Given the description of an element on the screen output the (x, y) to click on. 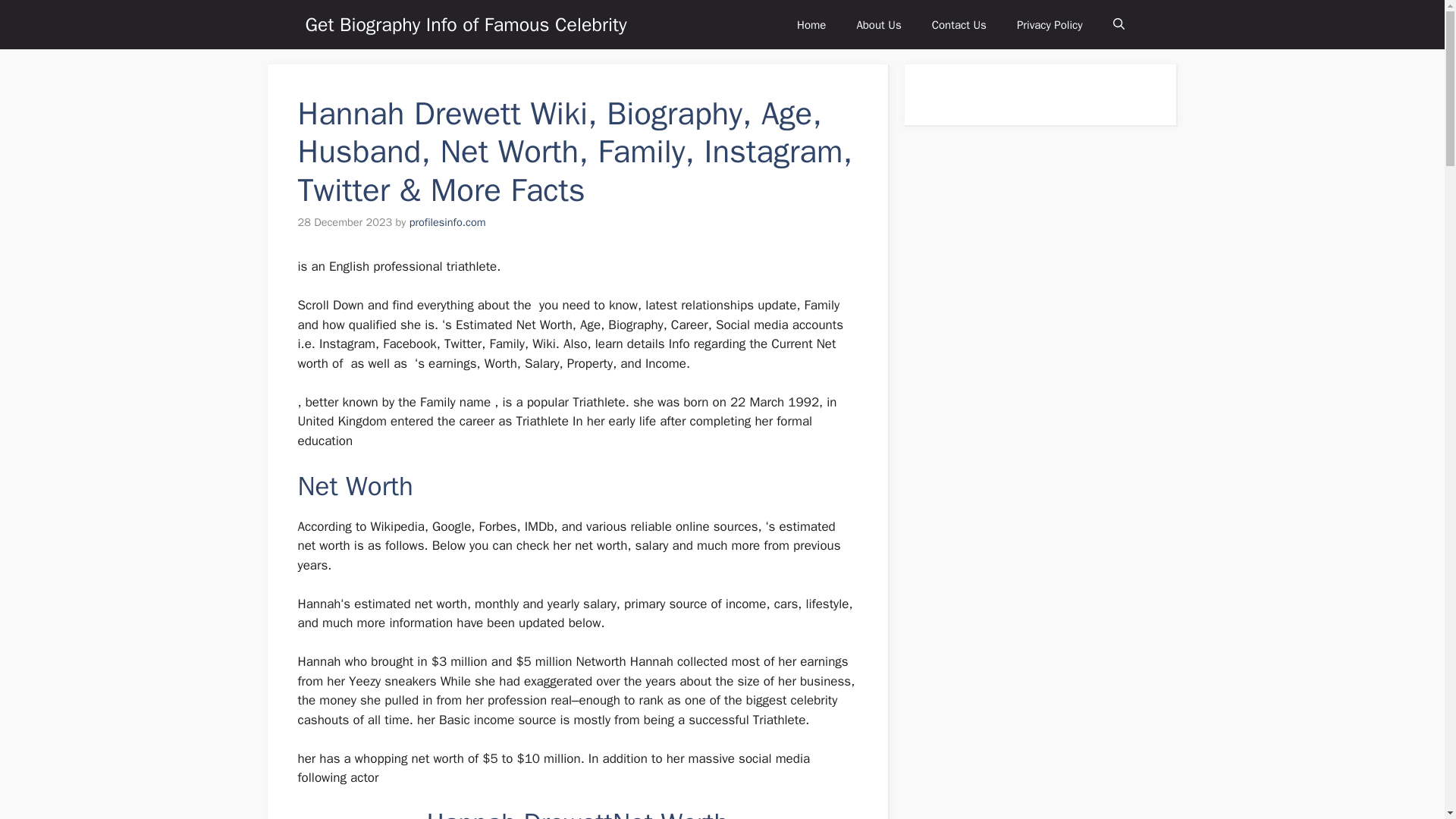
About Us (878, 23)
Home (811, 23)
View all posts by profilesinfo.com (447, 222)
profilesinfo.com (447, 222)
Get Biography Info of Famous Celebrity (465, 24)
Privacy Policy (1049, 23)
Contact Us (959, 23)
